Given the description of an element on the screen output the (x, y) to click on. 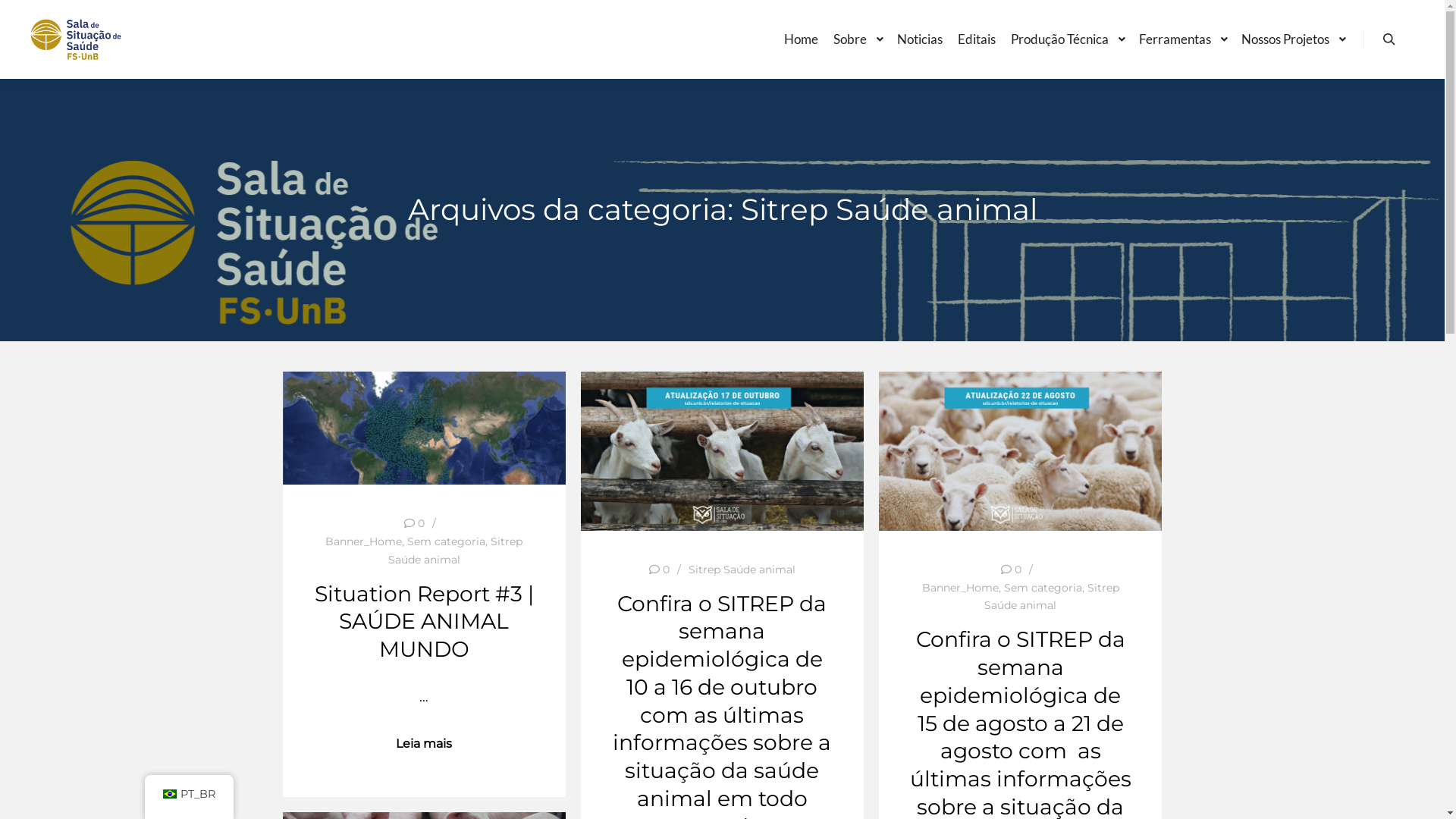
0 Element type: text (414, 523)
0 Element type: text (1011, 569)
Home Element type: text (800, 39)
Nossos Projetos Element type: text (1282, 39)
Sem categoria Element type: text (446, 541)
Ferramentas Element type: text (1172, 39)
Sobre Element type: text (847, 39)
Portuguese Element type: hover (168, 793)
Banner_Home Element type: text (363, 541)
Leia mais Element type: text (423, 743)
PT_BR Element type: text (188, 793)
Sem categoria Element type: text (1043, 587)
Banner_Home Element type: text (960, 587)
Noticias Element type: text (919, 39)
Pesquisa Element type: text (1388, 39)
0 Element type: text (659, 569)
Editais Element type: text (976, 39)
